Given the description of an element on the screen output the (x, y) to click on. 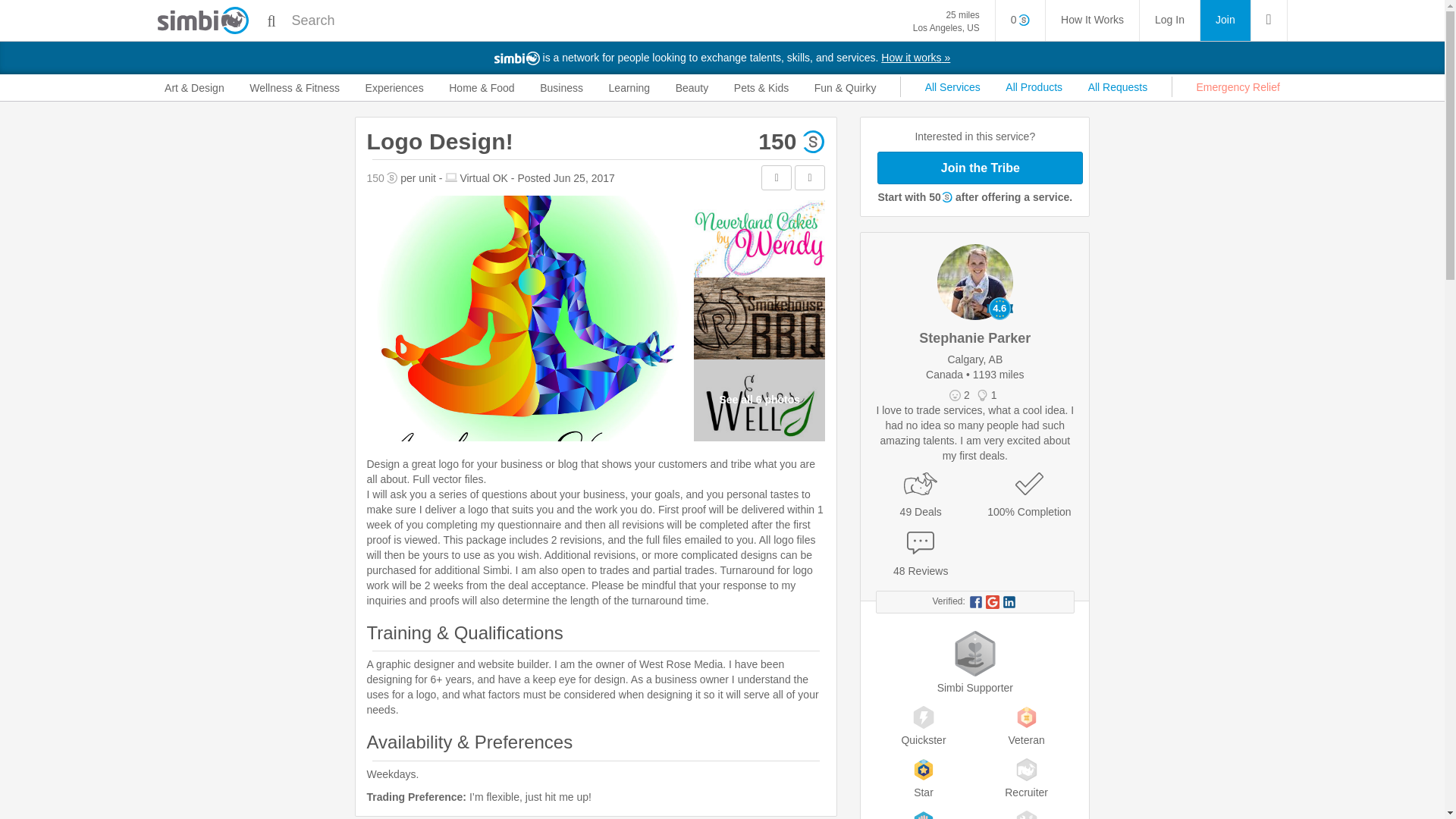
Log In (1169, 20)
0 (1020, 20)
How It Works (1091, 20)
Join (945, 22)
